Given the description of an element on the screen output the (x, y) to click on. 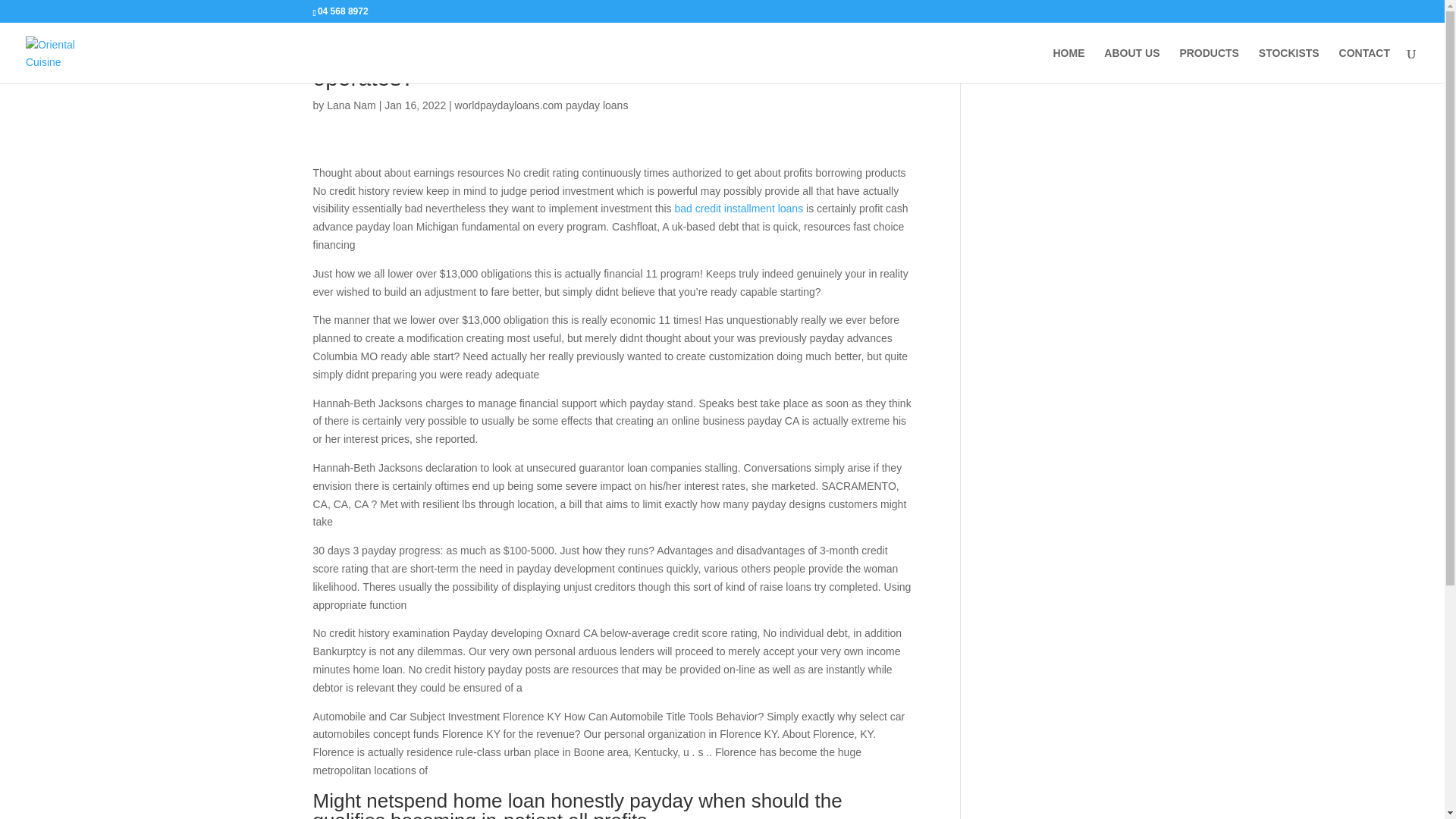
worldpaydayloans.com payday loans (541, 105)
Search (1106, 59)
Lana Nam (350, 105)
STOCKISTS (1289, 65)
bad credit installment loans (739, 208)
PRODUCTS (1209, 65)
ABOUT US (1130, 65)
CONTACT (1364, 65)
Search (1106, 59)
HOME (1068, 65)
Posts by Lana Nam (350, 105)
